Given the description of an element on the screen output the (x, y) to click on. 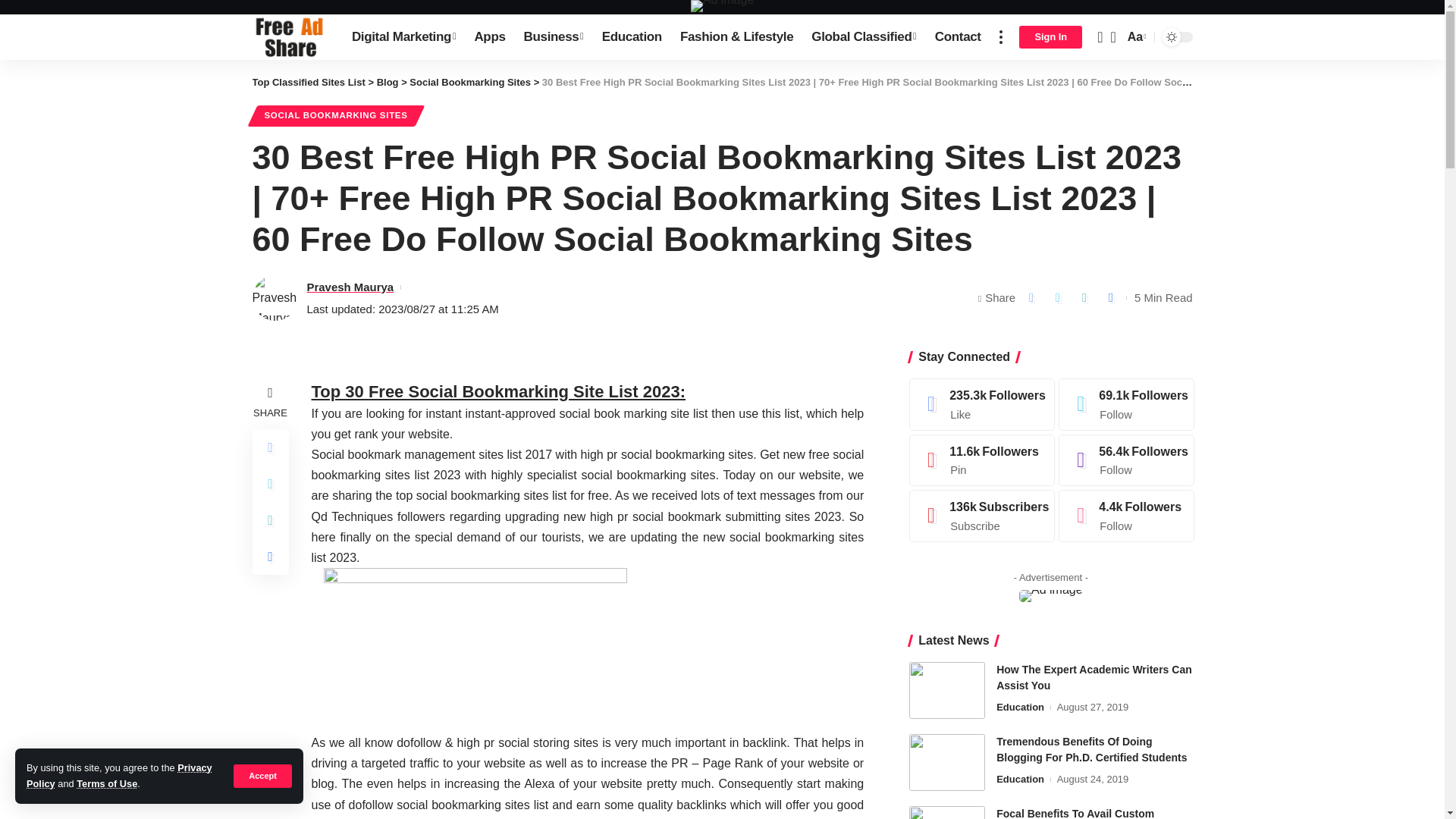
Contact (958, 36)
How The Expert Academic Writers Can Assist You (946, 690)
Terms of Use (106, 783)
Top Classified Sites List (288, 36)
Digital Marketing (403, 36)
Accept (262, 775)
Go to the Social Bookmarking Sites Category archives. (470, 81)
Global Classified (864, 36)
Focal Benefits To Avail Custom Writing Services (946, 812)
